Given the description of an element on the screen output the (x, y) to click on. 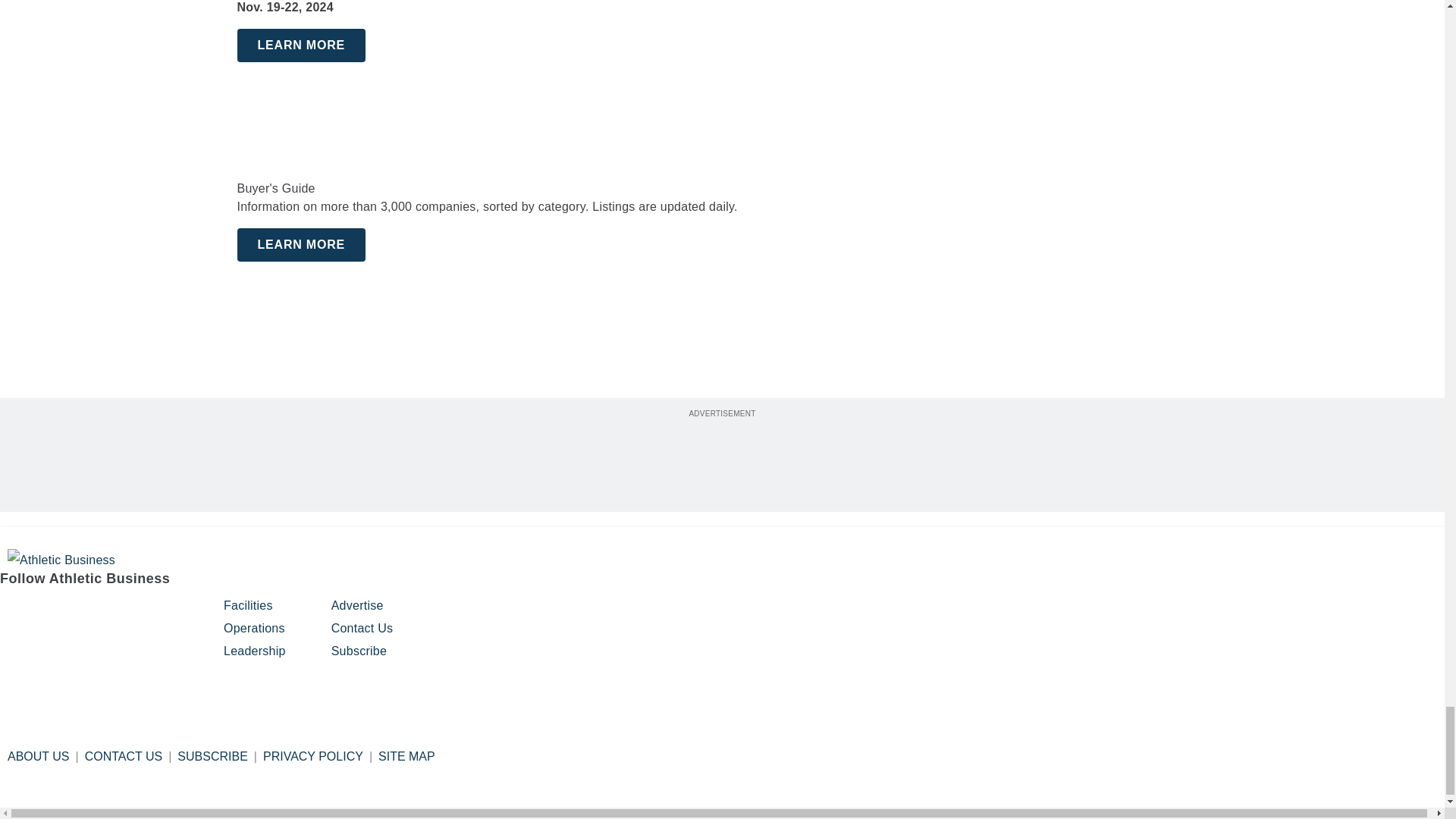
YouTube icon (129, 612)
Instagram icon (52, 612)
Twitter X icon (168, 612)
Facebook icon (13, 612)
LinkedIn icon (90, 612)
